Given the description of an element on the screen output the (x, y) to click on. 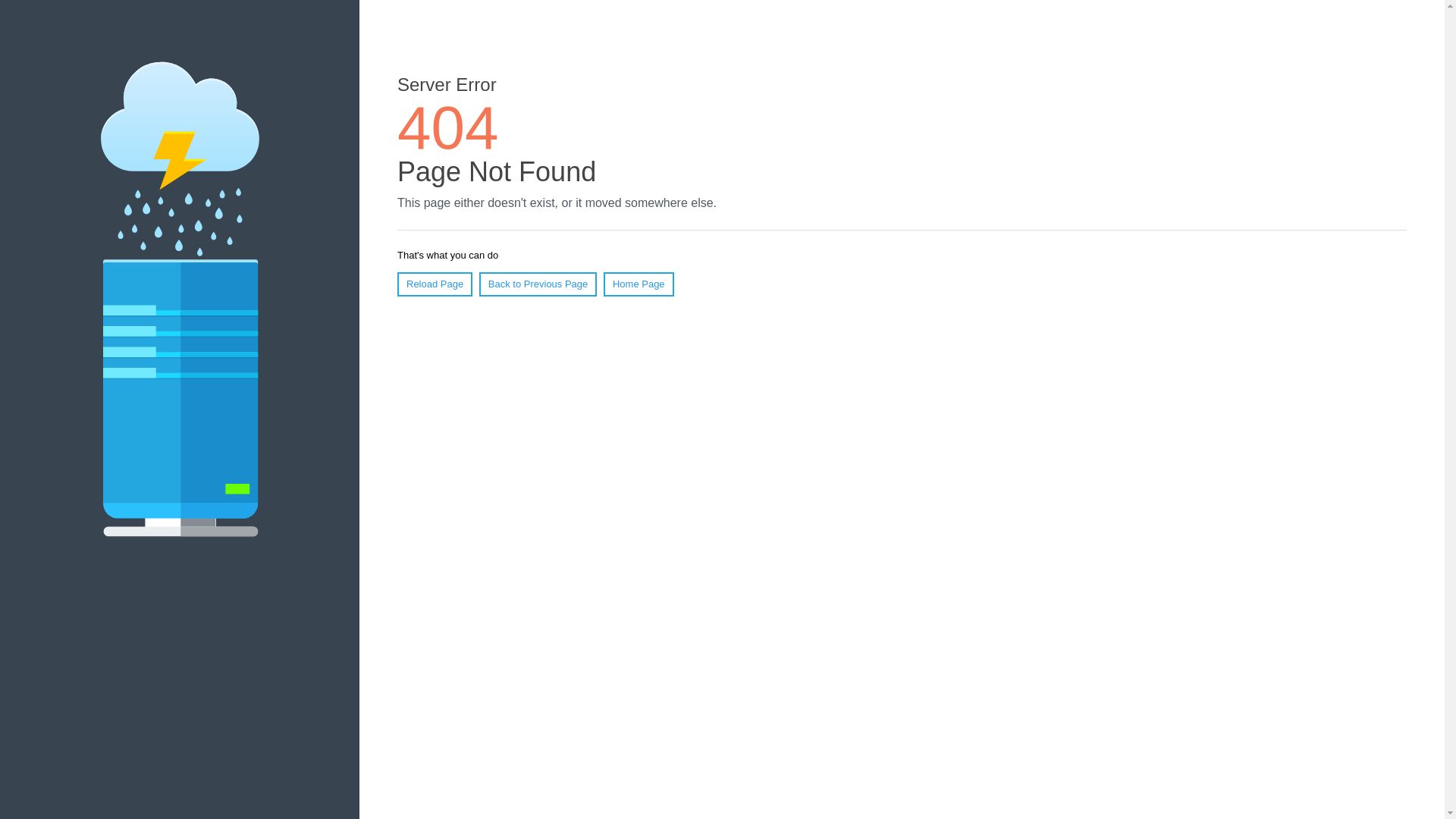
Reload Page Element type: text (434, 284)
Back to Previous Page Element type: text (538, 284)
Home Page Element type: text (638, 284)
